Given the description of an element on the screen output the (x, y) to click on. 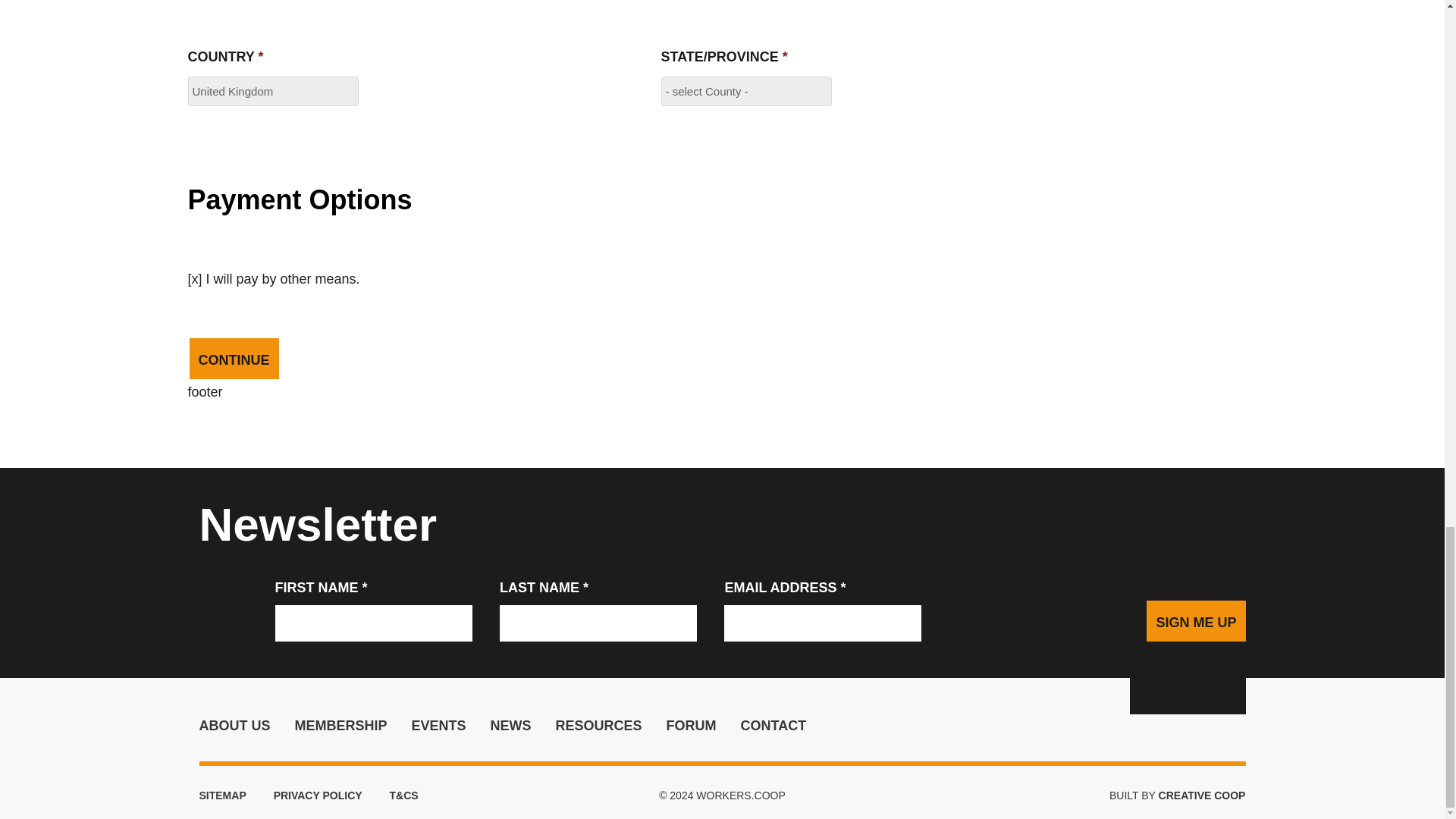
ABOUT US (233, 725)
Sign me up (1195, 620)
EVENTS (438, 725)
Facebook (1187, 696)
LinkedIn (1147, 696)
CONTINUE (234, 358)
CONTACT (773, 725)
Sign me up (1195, 620)
SITEMAP (222, 795)
CREATIVE COOP (1202, 795)
